Given the description of an element on the screen output the (x, y) to click on. 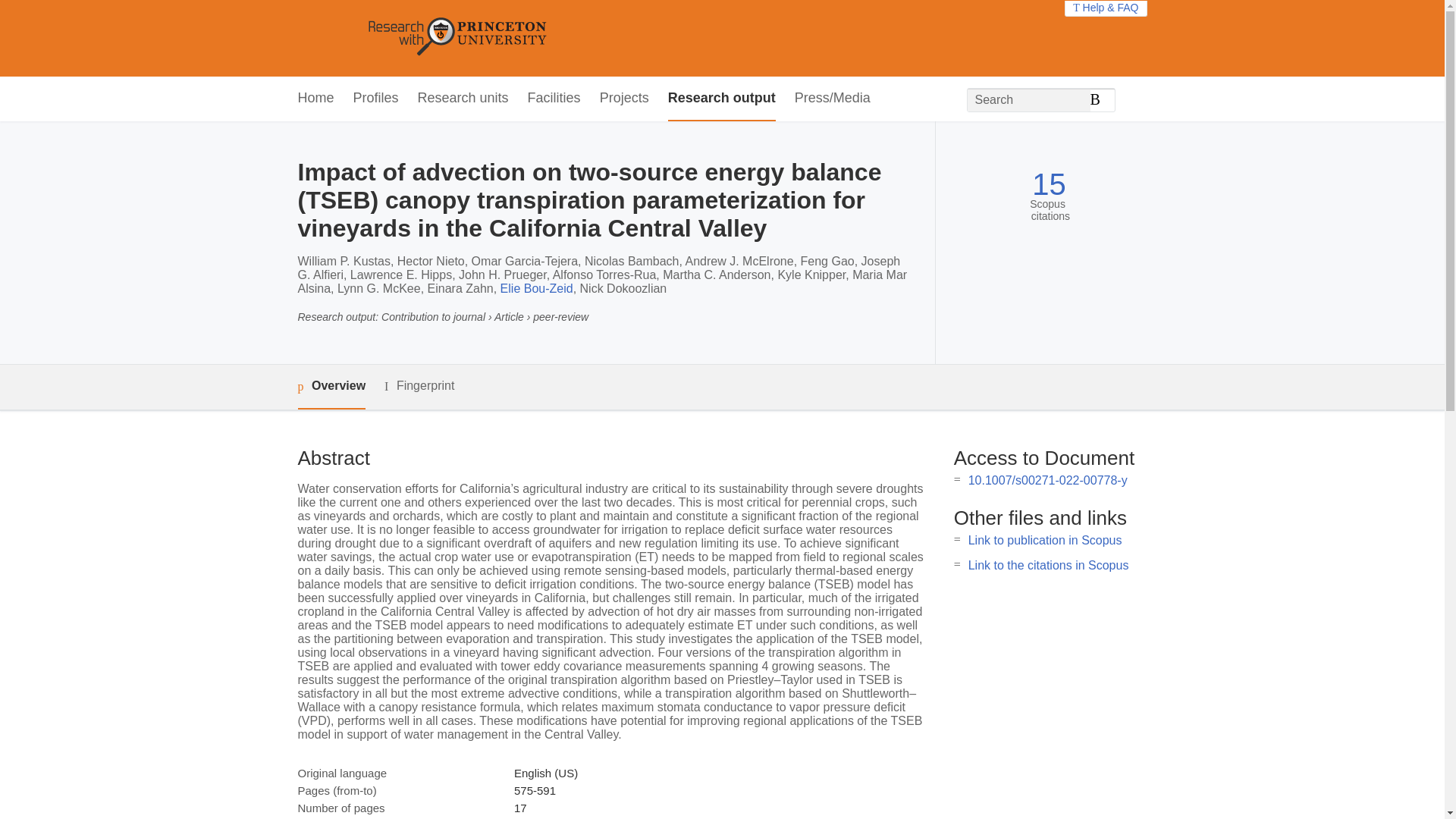
Elie Bou-Zeid (536, 287)
Princeton University Home (567, 38)
Research output (722, 98)
15 (1048, 184)
Profiles (375, 98)
Fingerprint (419, 385)
Overview (331, 386)
Research units (462, 98)
Projects (624, 98)
